Given the description of an element on the screen output the (x, y) to click on. 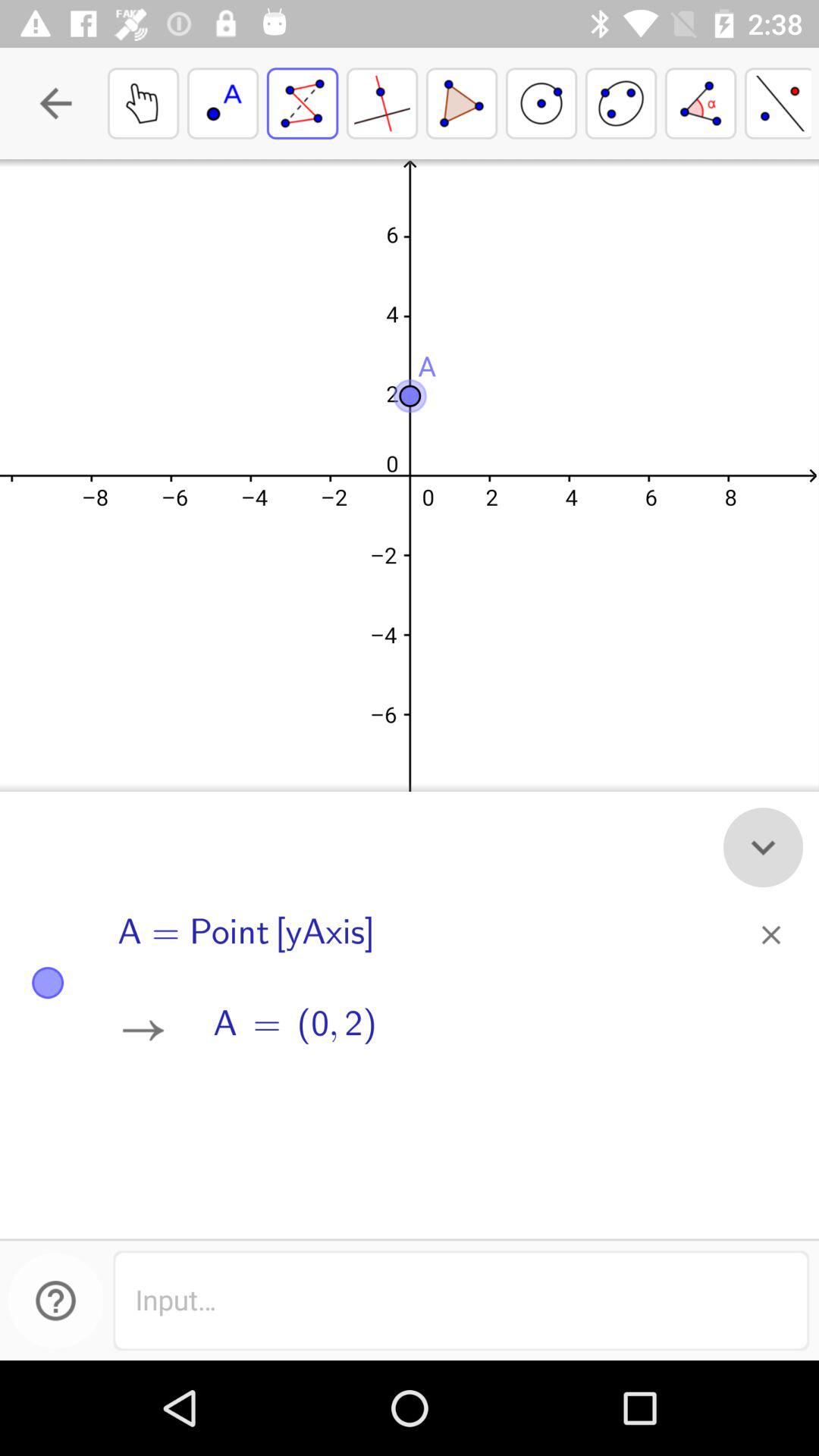
select the second box from top left corner (222, 102)
select the fifth box from the top right corner (461, 102)
select the fourth box from the top right corner (541, 102)
click on the fourth figure from the left top of the page (381, 102)
click on the last button which is at the top of the page (777, 102)
click on the 3rd symbol from the left on the top of the page (302, 102)
click on the arrow icon at the topmost left corner of the page (56, 103)
click on the third image from the top right corner of the page (620, 102)
click on the third figure from the left top of the page (763, 847)
click on the button which is fourth button from the left side at top of the page (541, 102)
select on arrow mark (142, 1030)
click on close symbol (771, 934)
click the drop down button (763, 847)
